Given the description of an element on the screen output the (x, y) to click on. 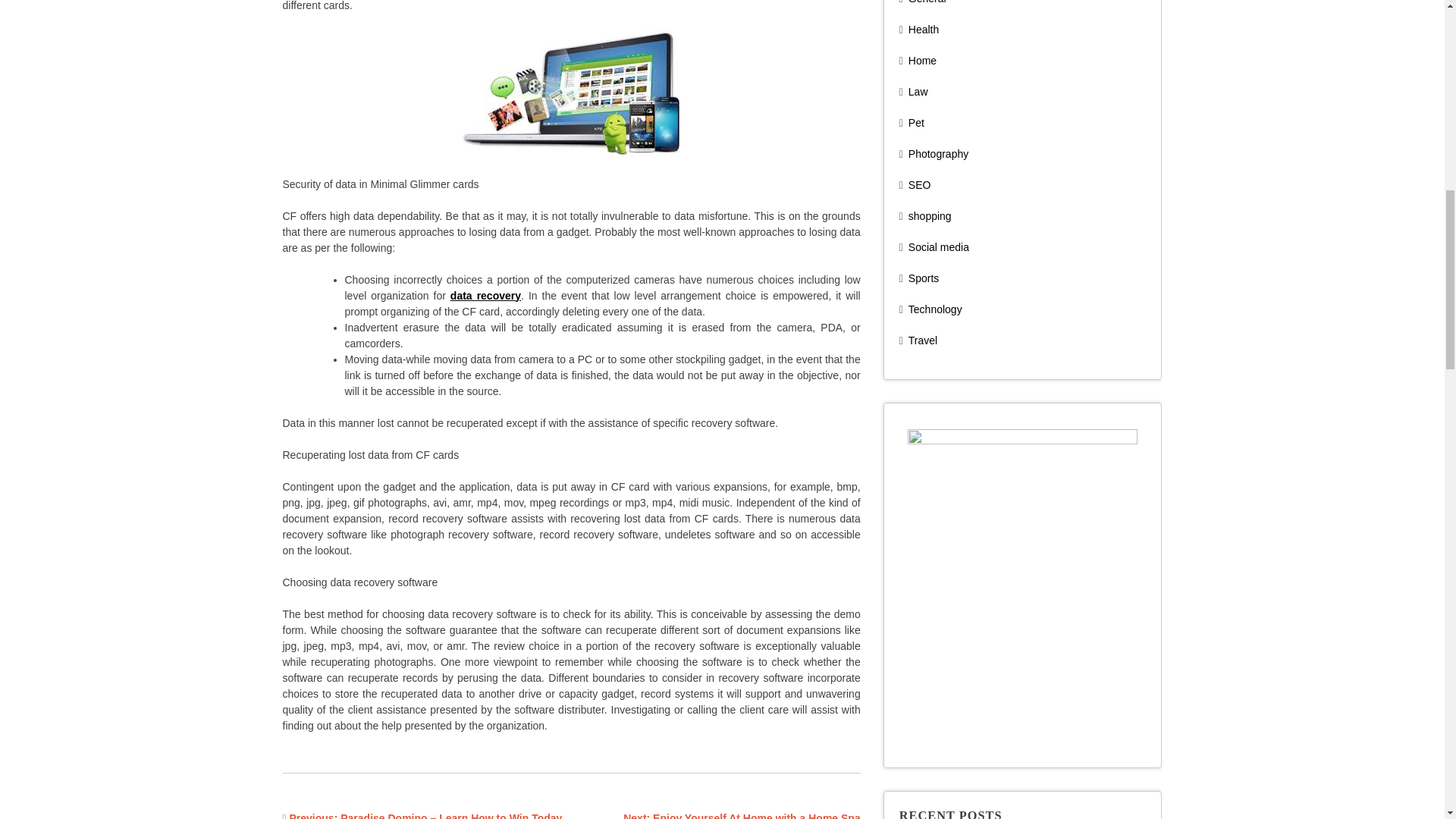
Social media (938, 246)
shopping (930, 215)
Travel (922, 340)
Pet (916, 122)
Sports (923, 277)
Home (922, 60)
Photography (938, 153)
Law (918, 91)
Technology (935, 309)
Health (923, 29)
General (927, 2)
Next: Enjoy Yourself At Home with a Home Spa Treatment (741, 815)
SEO (919, 184)
data recovery (485, 295)
